Given the description of an element on the screen output the (x, y) to click on. 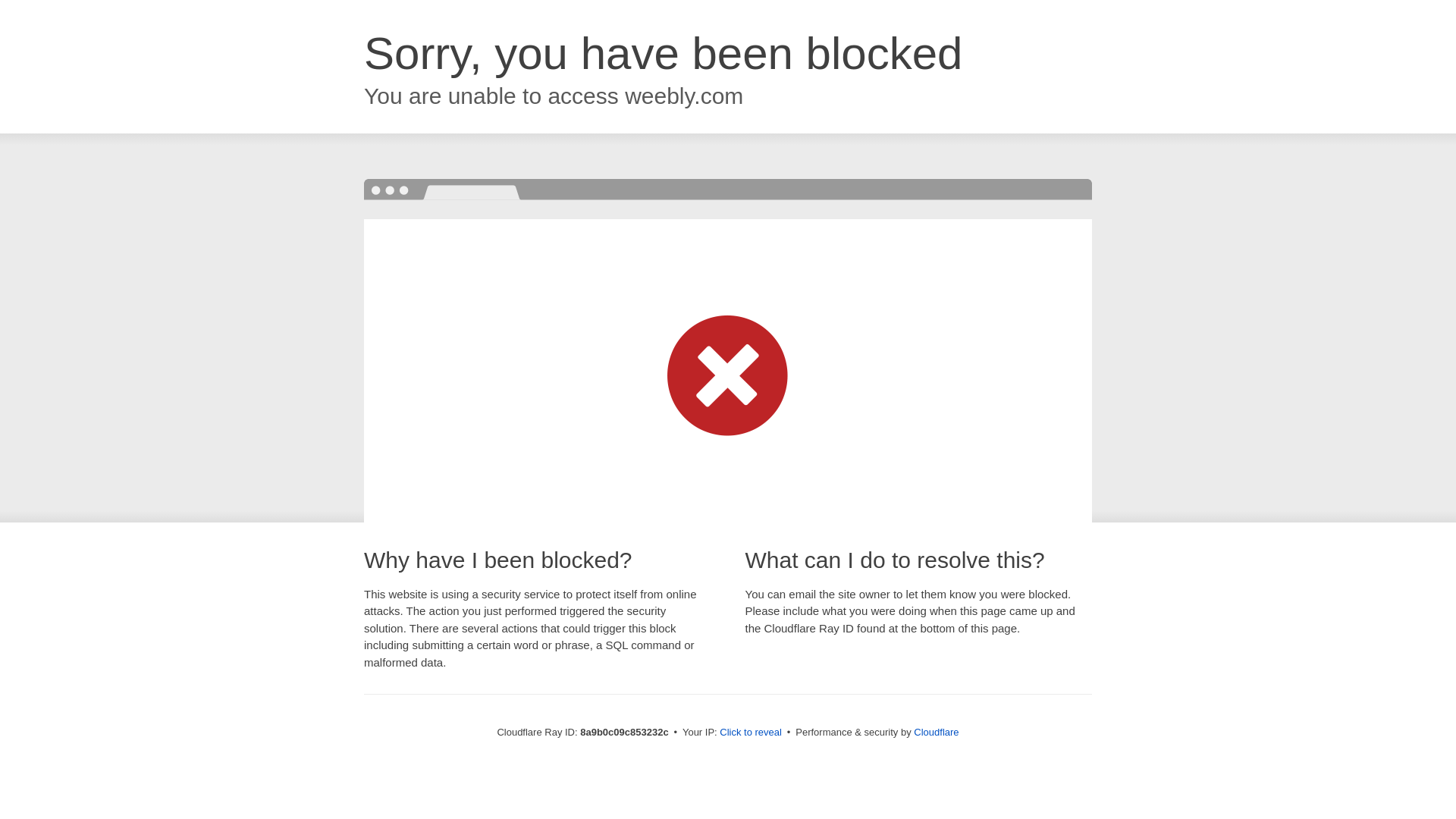
Click to reveal (750, 732)
Cloudflare (936, 731)
